Given the description of an element on the screen output the (x, y) to click on. 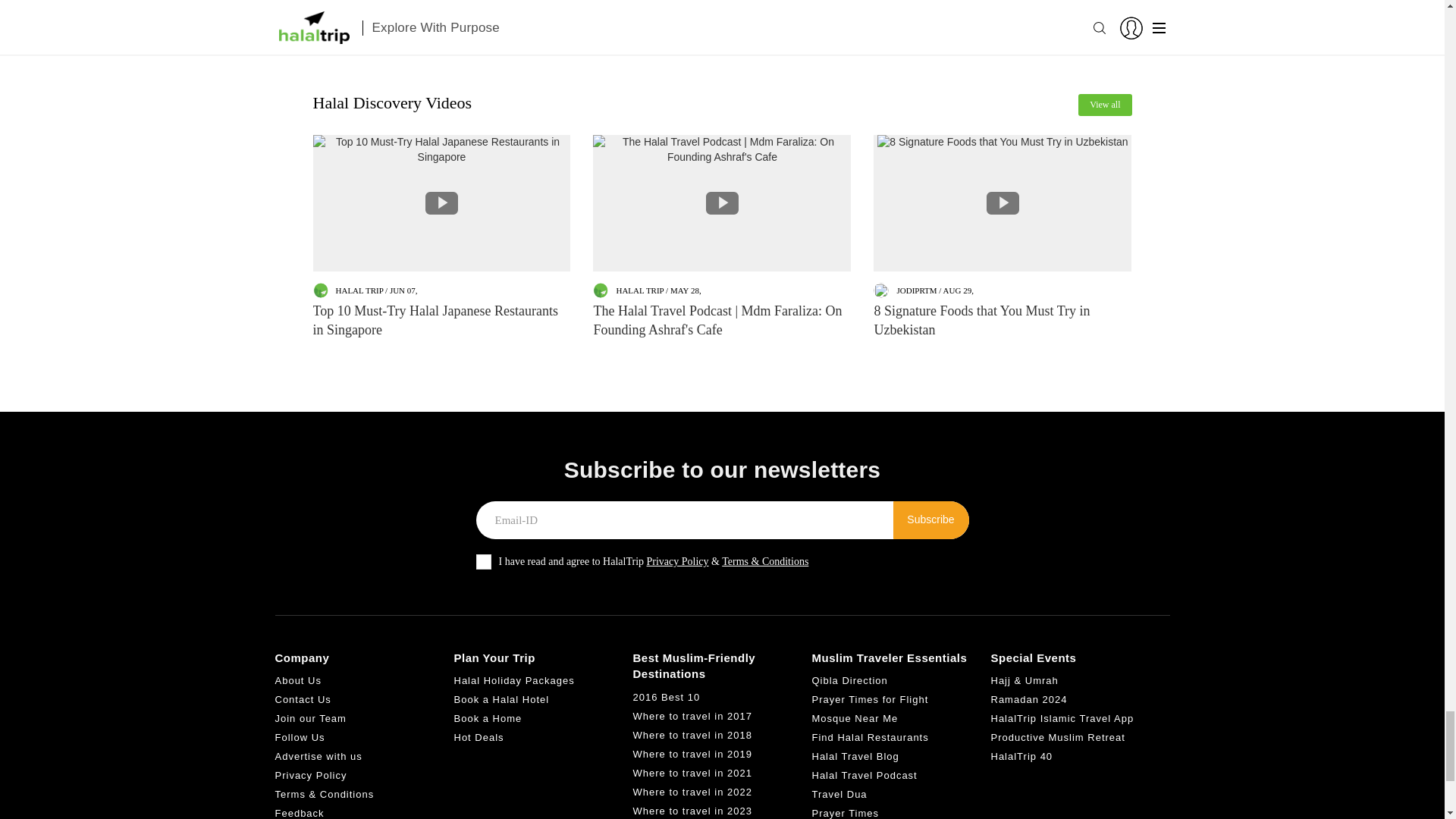
Subscribe (931, 519)
